Given the description of an element on the screen output the (x, y) to click on. 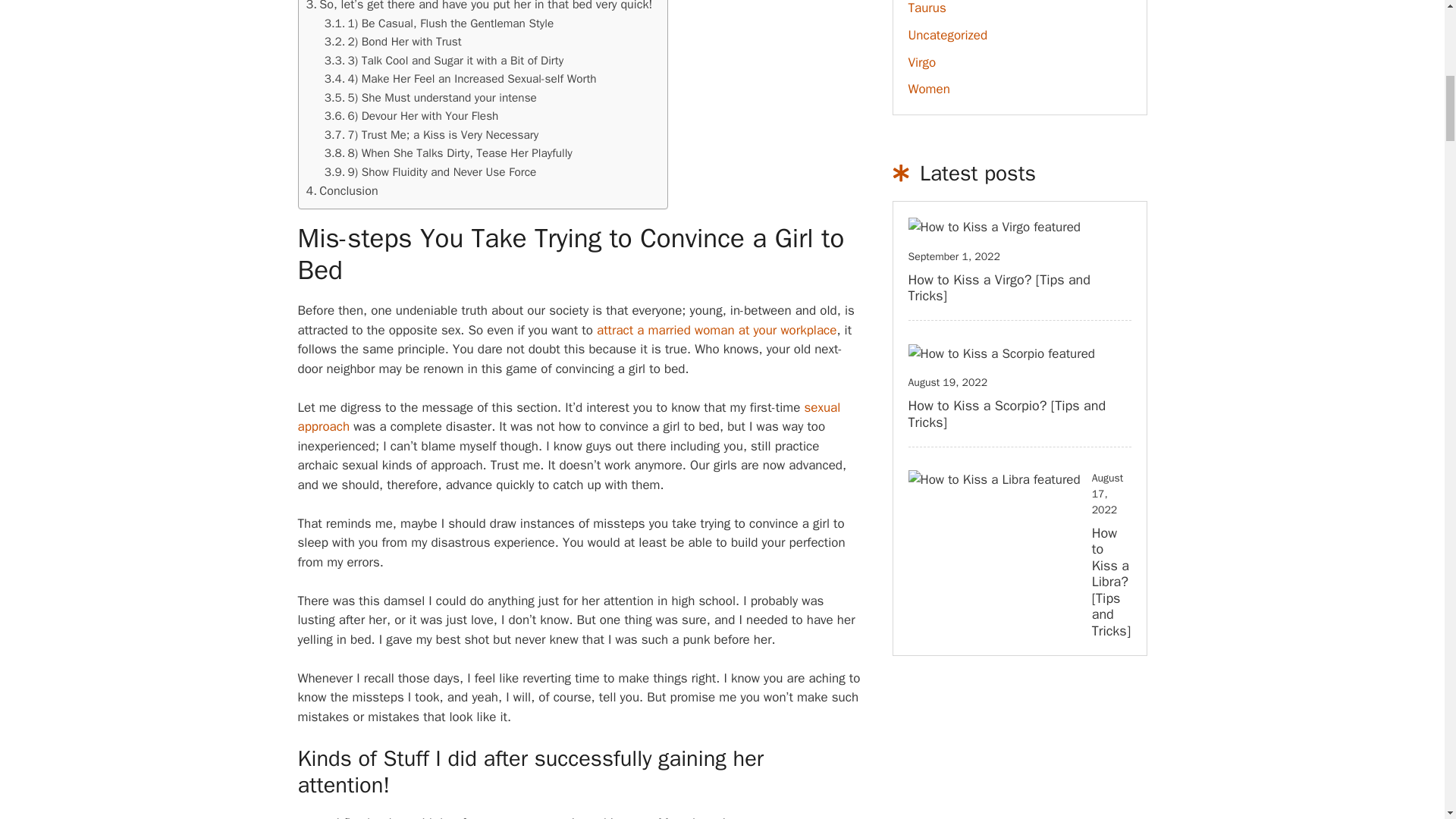
Conclusion (341, 190)
sexual approach (568, 416)
attract a married woman at your workplace (715, 330)
